Given the description of an element on the screen output the (x, y) to click on. 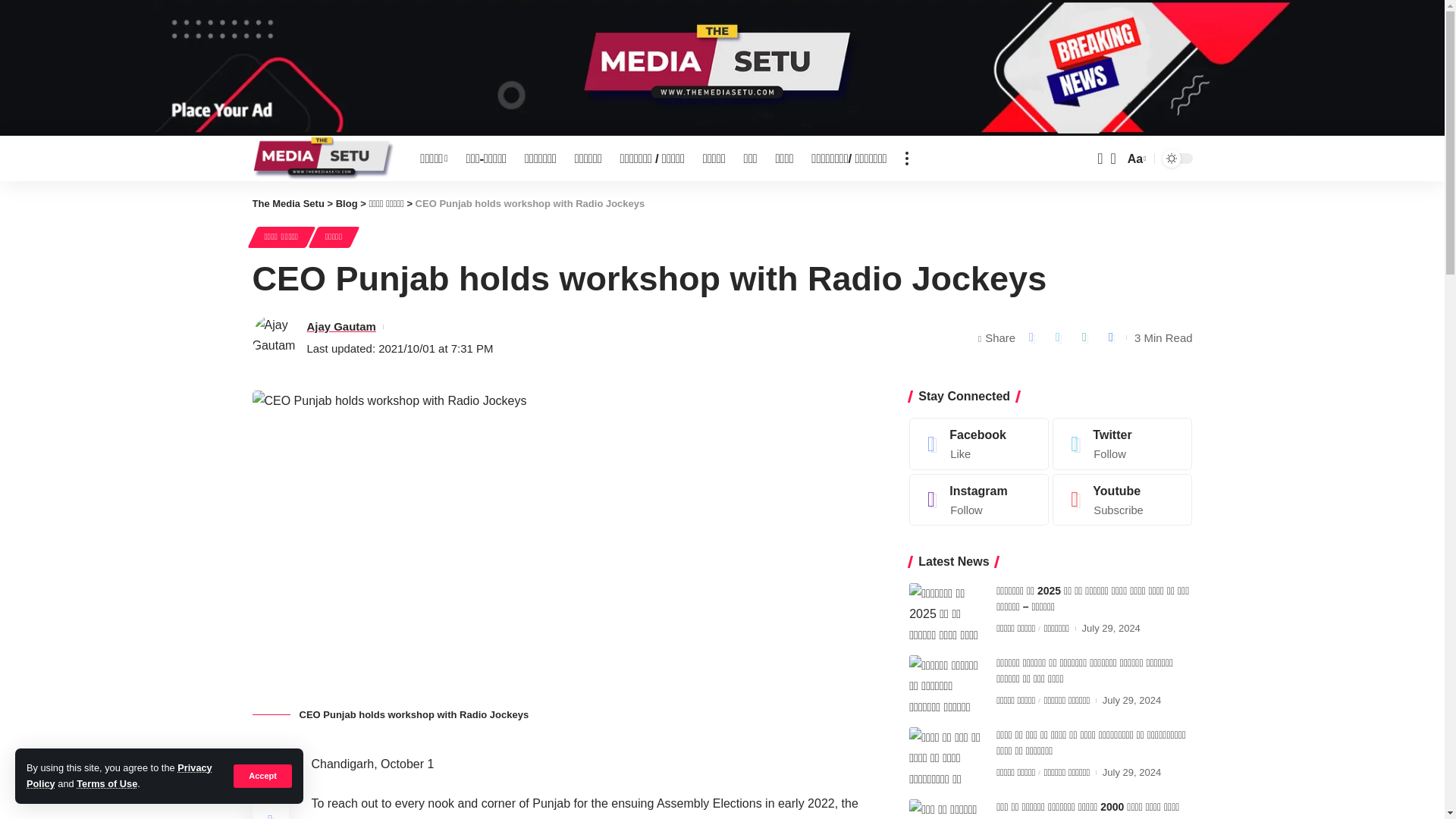
Aa (1135, 158)
Terms of Use (106, 783)
Privacy Policy (119, 775)
Go to The Media Setu. (287, 203)
The Media Setu (323, 157)
Accept (262, 775)
Go to Blog. (347, 203)
